Given the description of an element on the screen output the (x, y) to click on. 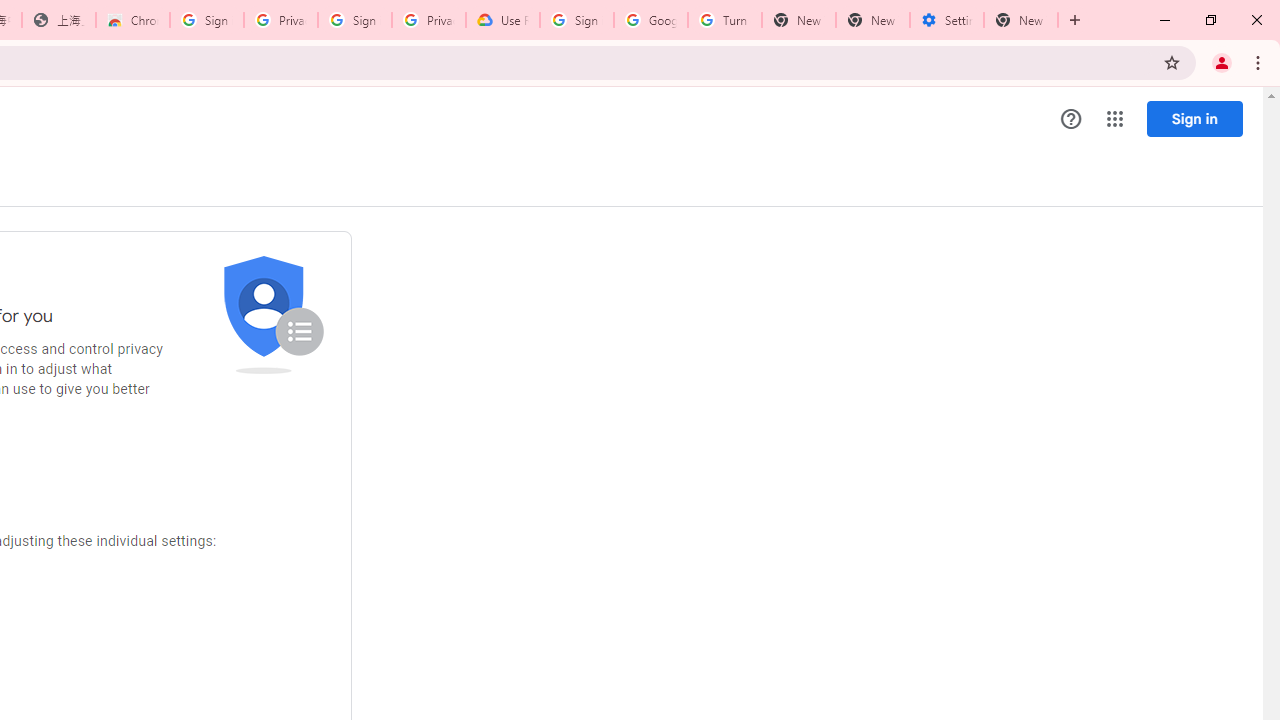
New Tab (1021, 20)
Google Account Help (651, 20)
